Given the description of an element on the screen output the (x, y) to click on. 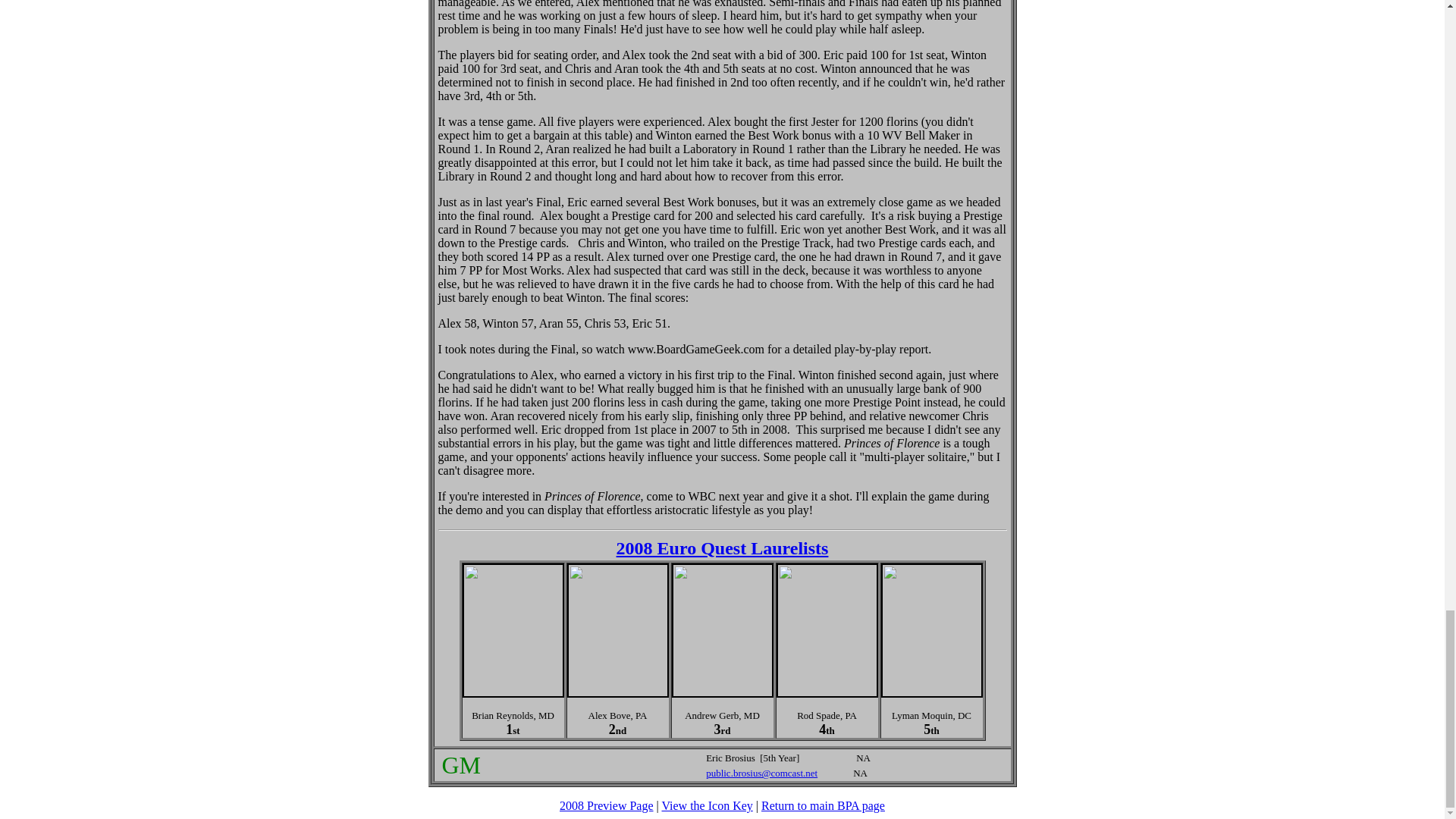
2008 Preview Page (606, 805)
2008 Euro Quest Laurelists (721, 547)
Return to main BPA page (823, 805)
View the Icon Key (706, 805)
